Given the description of an element on the screen output the (x, y) to click on. 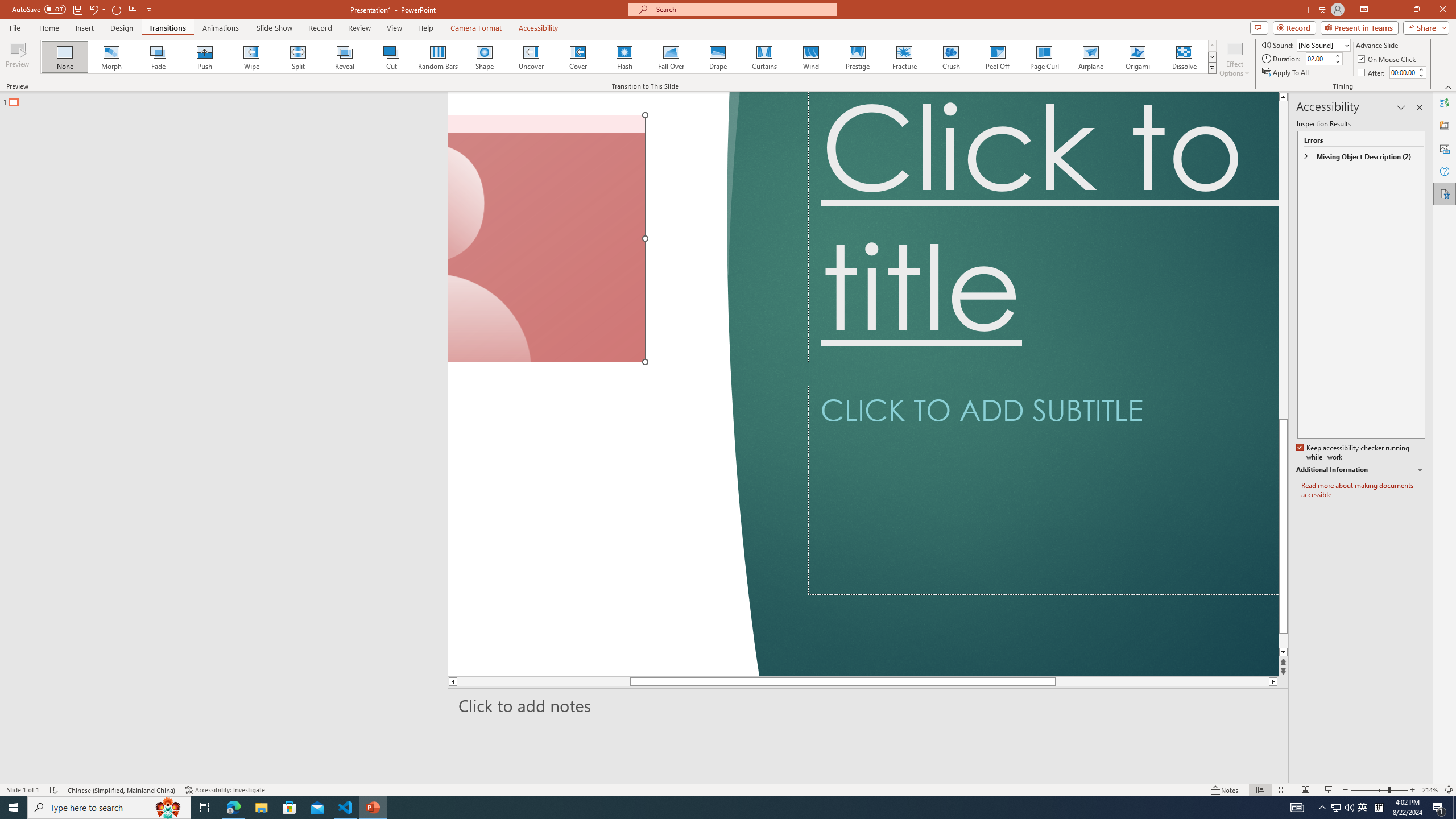
Read more about making documents accessible (1363, 489)
Origami (1136, 56)
Uncover (531, 56)
Reveal (344, 56)
Airplane (1090, 56)
